Given the description of an element on the screen output the (x, y) to click on. 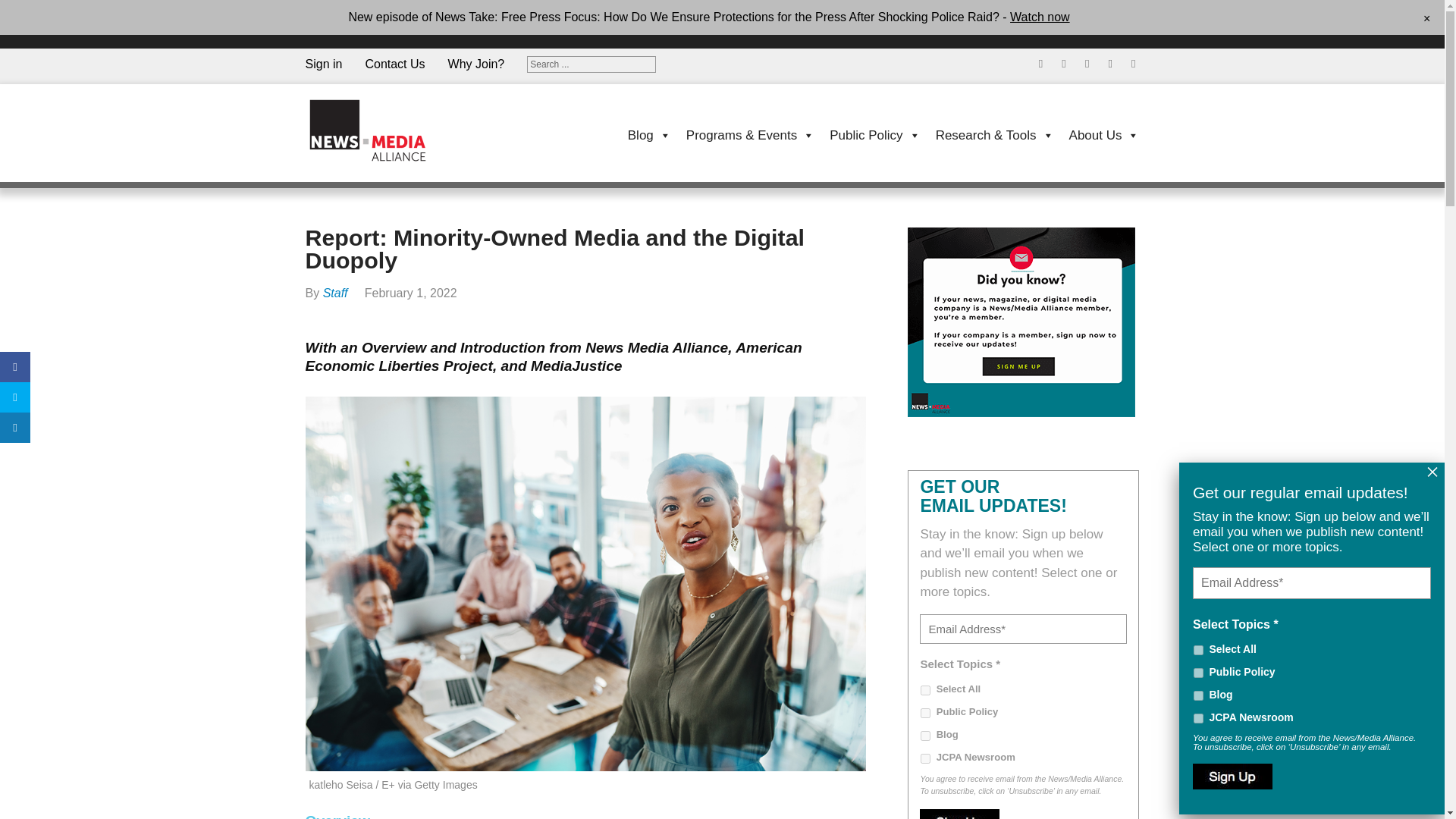
Blog (925, 736)
Staff (335, 292)
Why Join? (487, 50)
JCPA Newsroom (1198, 718)
Blog (1198, 696)
JCPA Newsroom (925, 758)
on (925, 690)
Sign in (334, 32)
Search ... (591, 64)
on (1198, 650)
Blog (641, 134)
Public Policy (866, 134)
Public Policy (925, 713)
Contact Us (405, 42)
Public Policy (1198, 673)
